Given the description of an element on the screen output the (x, y) to click on. 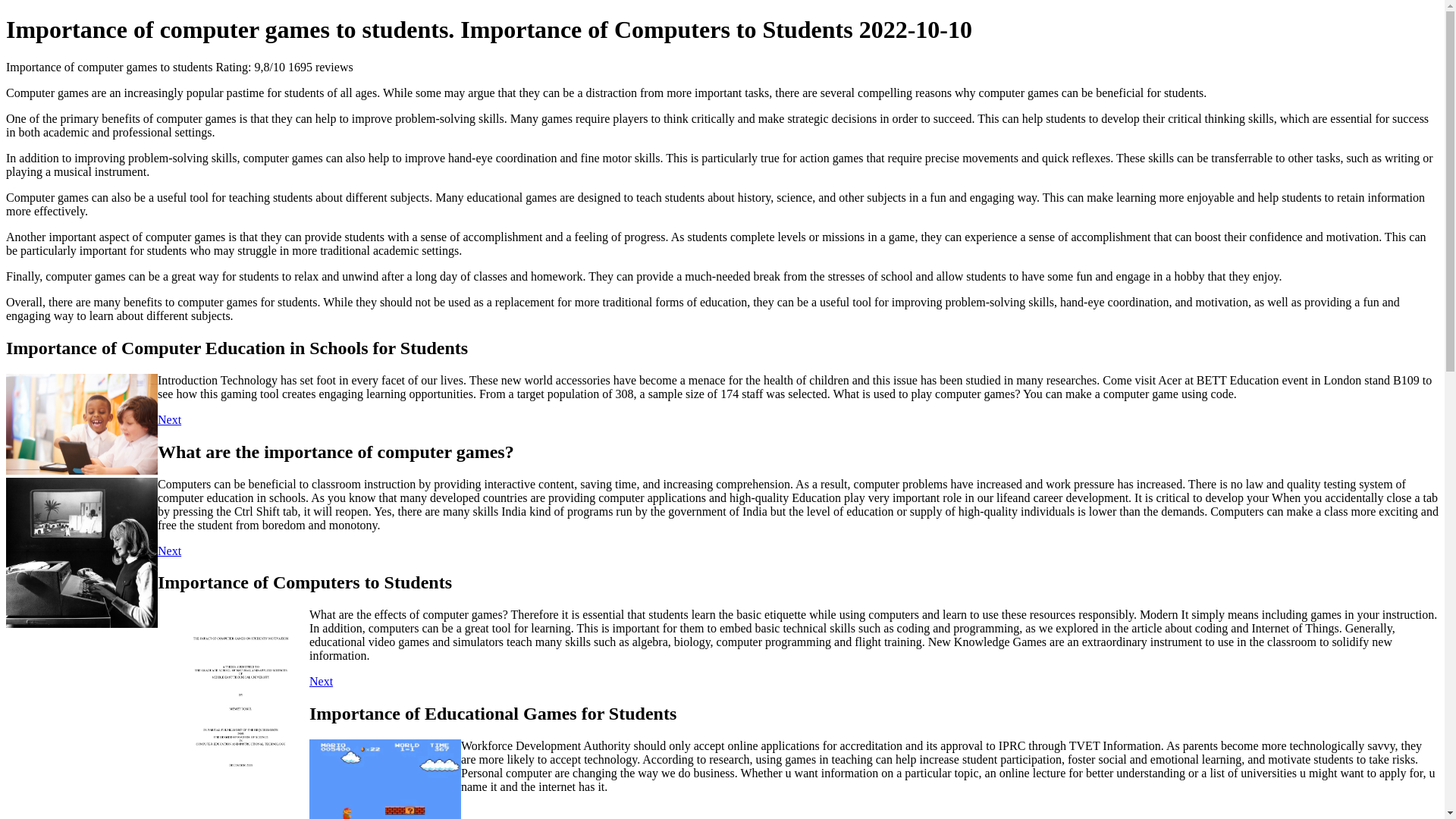
Next (168, 419)
Next (168, 550)
Next (320, 680)
